Given the description of an element on the screen output the (x, y) to click on. 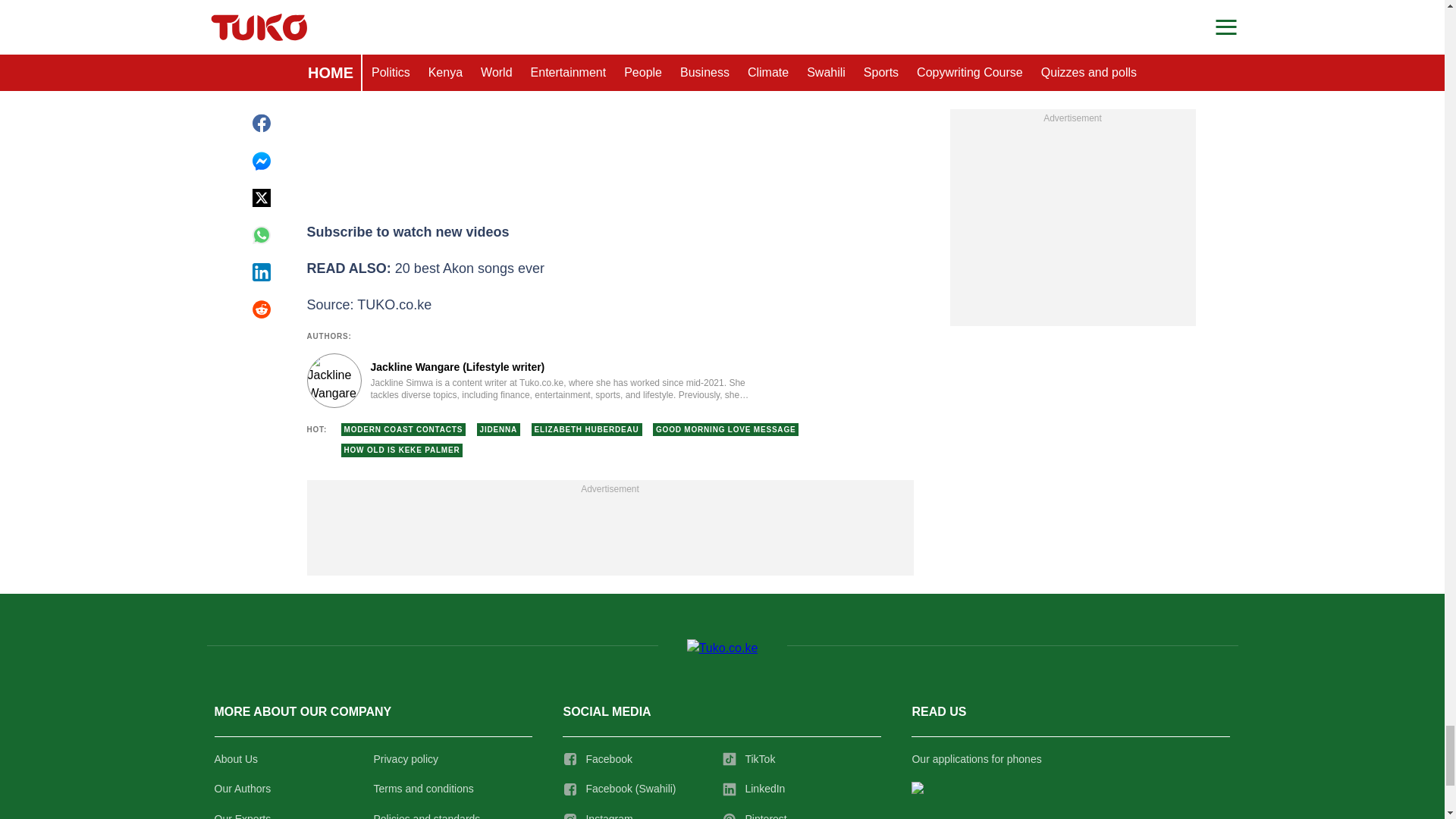
Author page (533, 379)
